Given the description of an element on the screen output the (x, y) to click on. 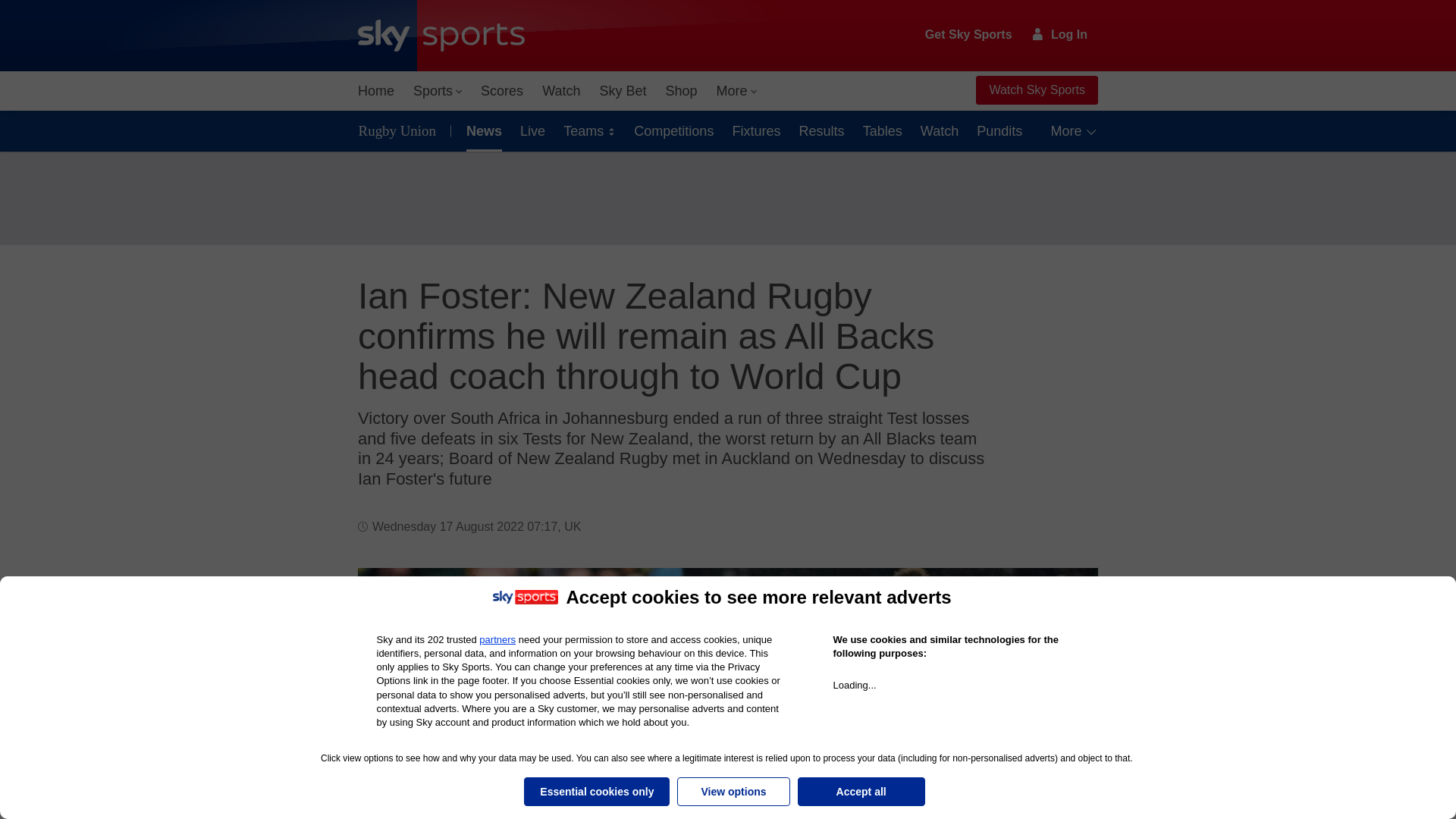
Scores (502, 91)
Home (375, 91)
More (736, 91)
Rugby Union (400, 130)
Watch (561, 91)
Get Sky Sports (968, 34)
Sports (437, 91)
News (481, 130)
Shop (681, 91)
Log In (1060, 33)
Sky Bet (622, 91)
Watch Sky Sports (1036, 90)
